Given the description of an element on the screen output the (x, y) to click on. 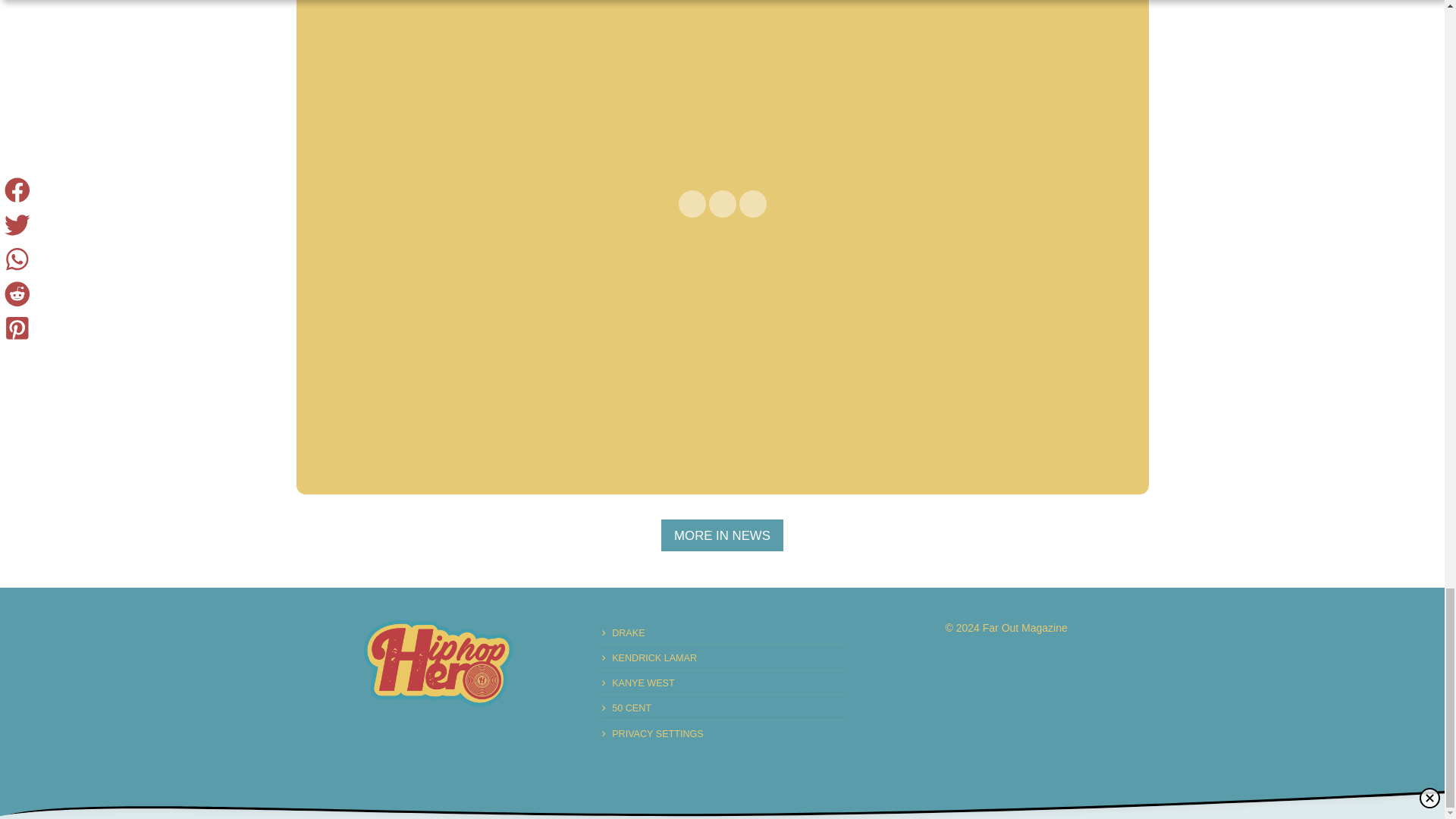
Hip Hop Hero (438, 662)
More in News (722, 535)
